Given the description of an element on the screen output the (x, y) to click on. 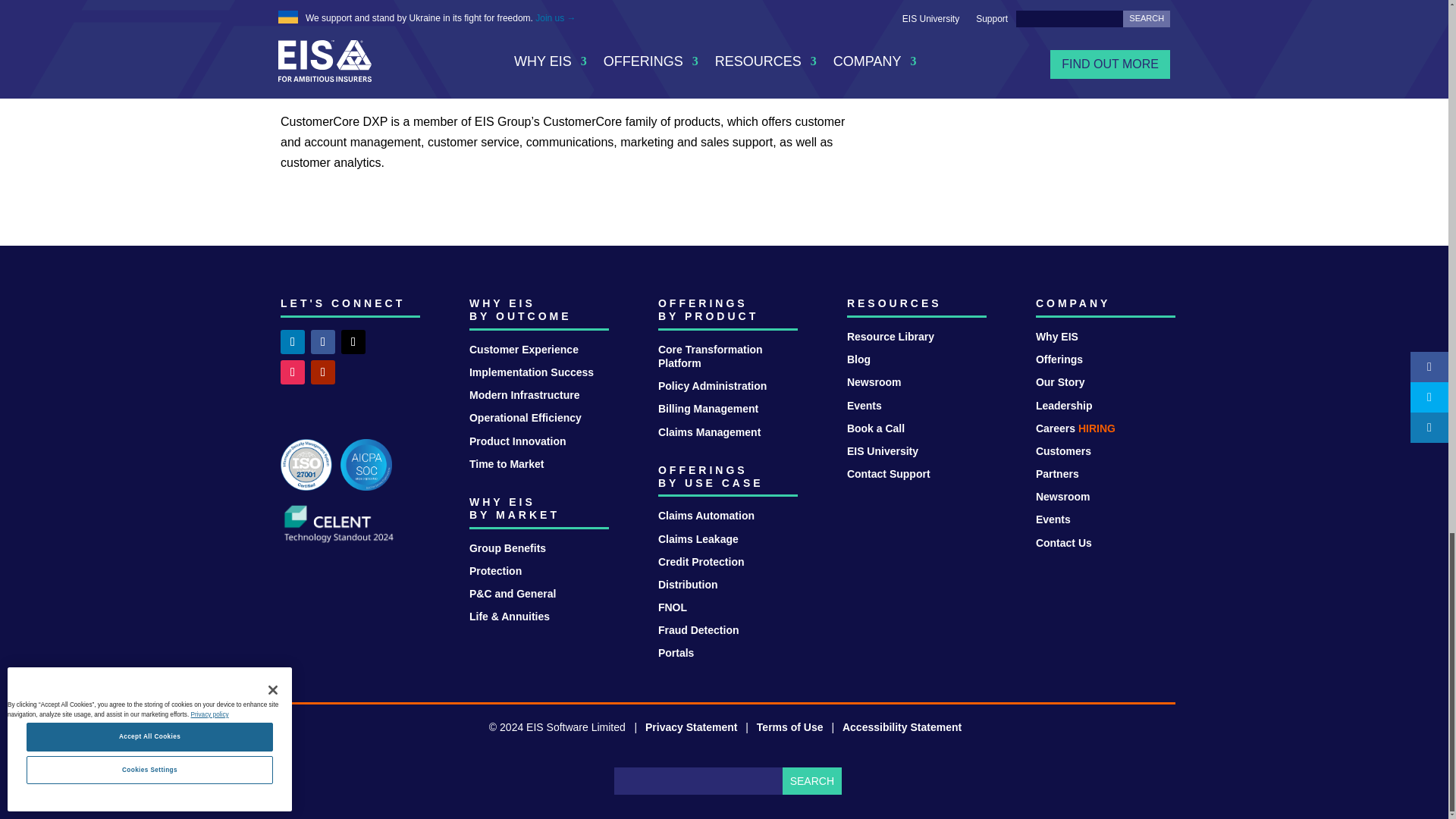
Search (812, 780)
Search (812, 780)
ISO-27001-and-AICPA-SOC-certification-badges (336, 464)
Celent-Technology-Standout-2024 white (339, 523)
Follow on Youtube (322, 372)
Follow on LinkedIn (292, 341)
Follow on X (352, 341)
Follow on Facebook (322, 341)
Follow on Instagram (292, 372)
